Given the description of an element on the screen output the (x, y) to click on. 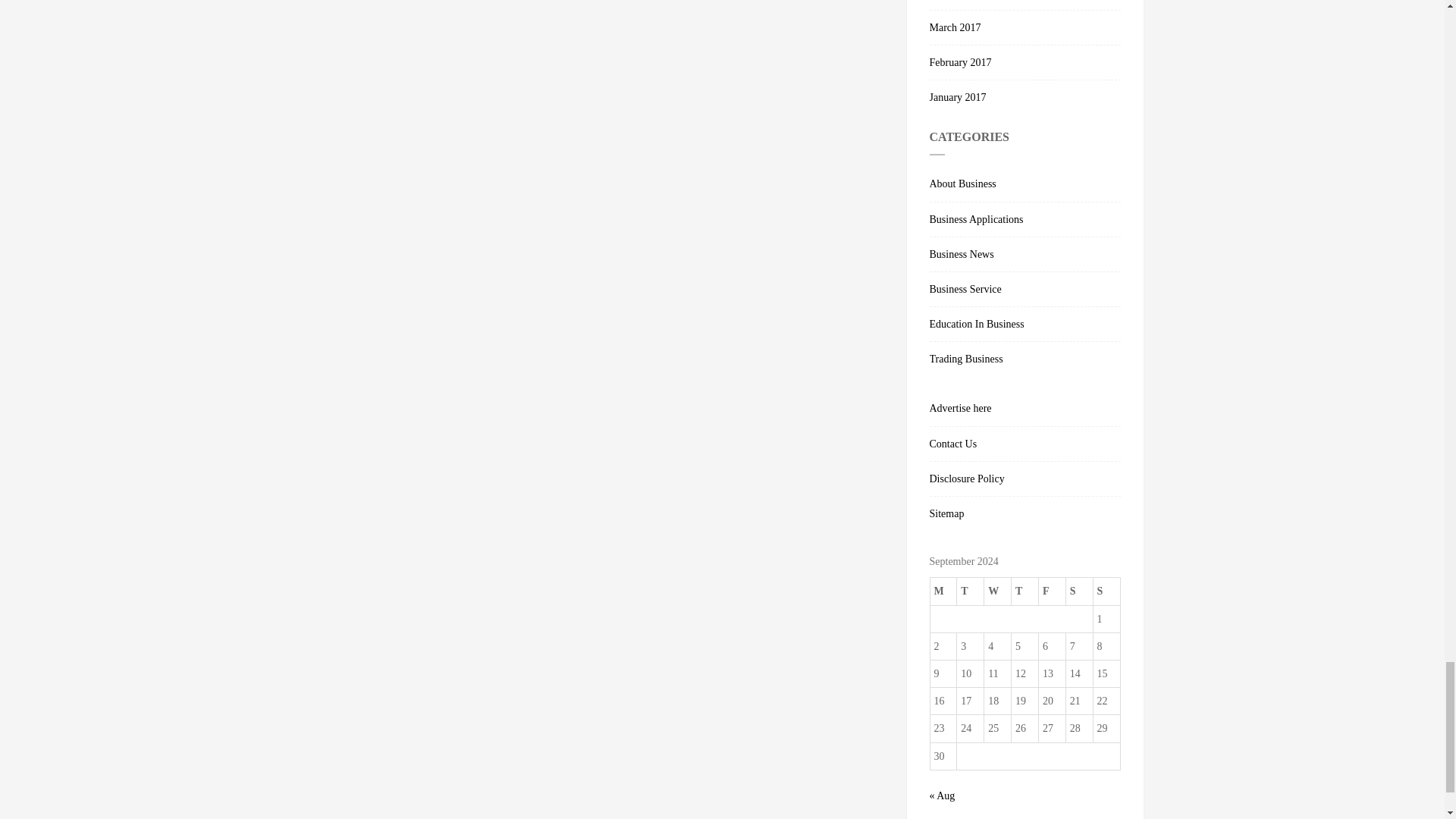
Sunday (1106, 591)
Wednesday (997, 591)
Monday (943, 591)
Tuesday (970, 591)
Saturday (1079, 591)
Thursday (1025, 591)
Friday (1051, 591)
